Given the description of an element on the screen output the (x, y) to click on. 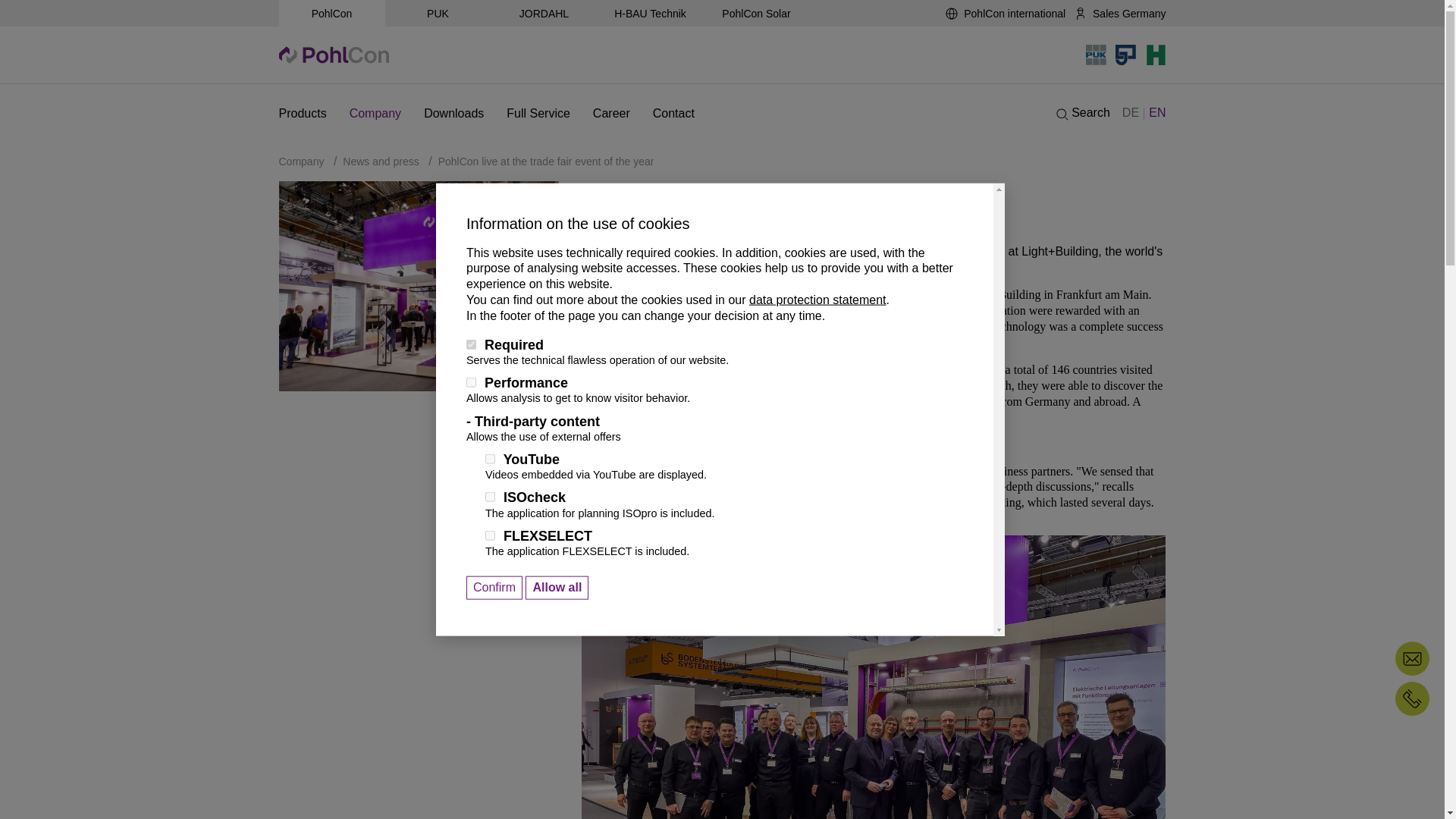
PohlCon Solar (756, 13)
Full Service (537, 114)
Allow all (556, 587)
Sales Germany (1118, 13)
Products (301, 114)
PohlCon (332, 13)
Downloads (453, 114)
PUK (438, 13)
Confirm (493, 587)
PohlCon international (1003, 13)
H-BAU Technik (649, 13)
Company (374, 114)
data protection statement (817, 299)
JORDAHL (544, 13)
